Given the description of an element on the screen output the (x, y) to click on. 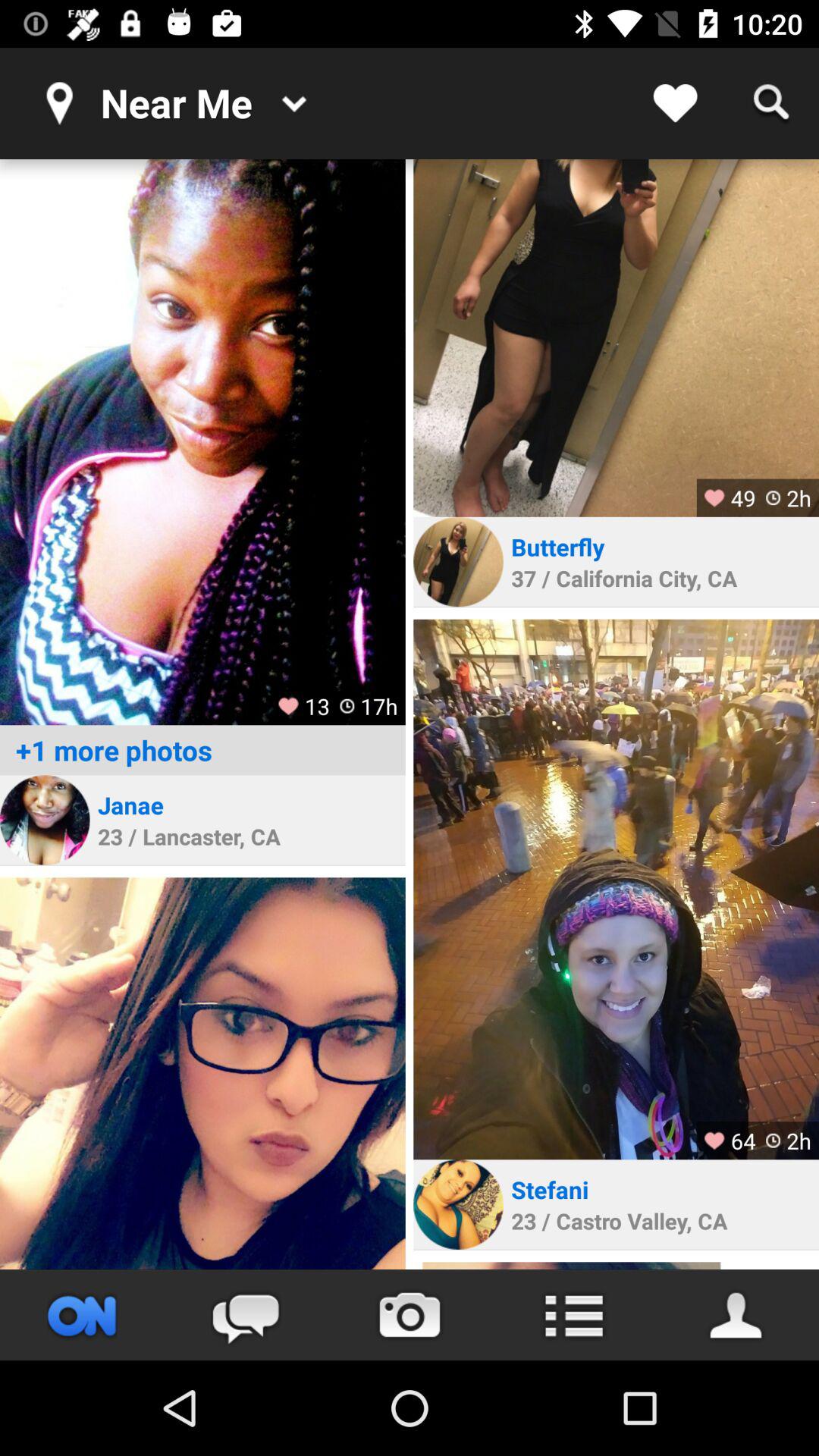
press icon below +1 more photos (130, 804)
